Given the description of an element on the screen output the (x, y) to click on. 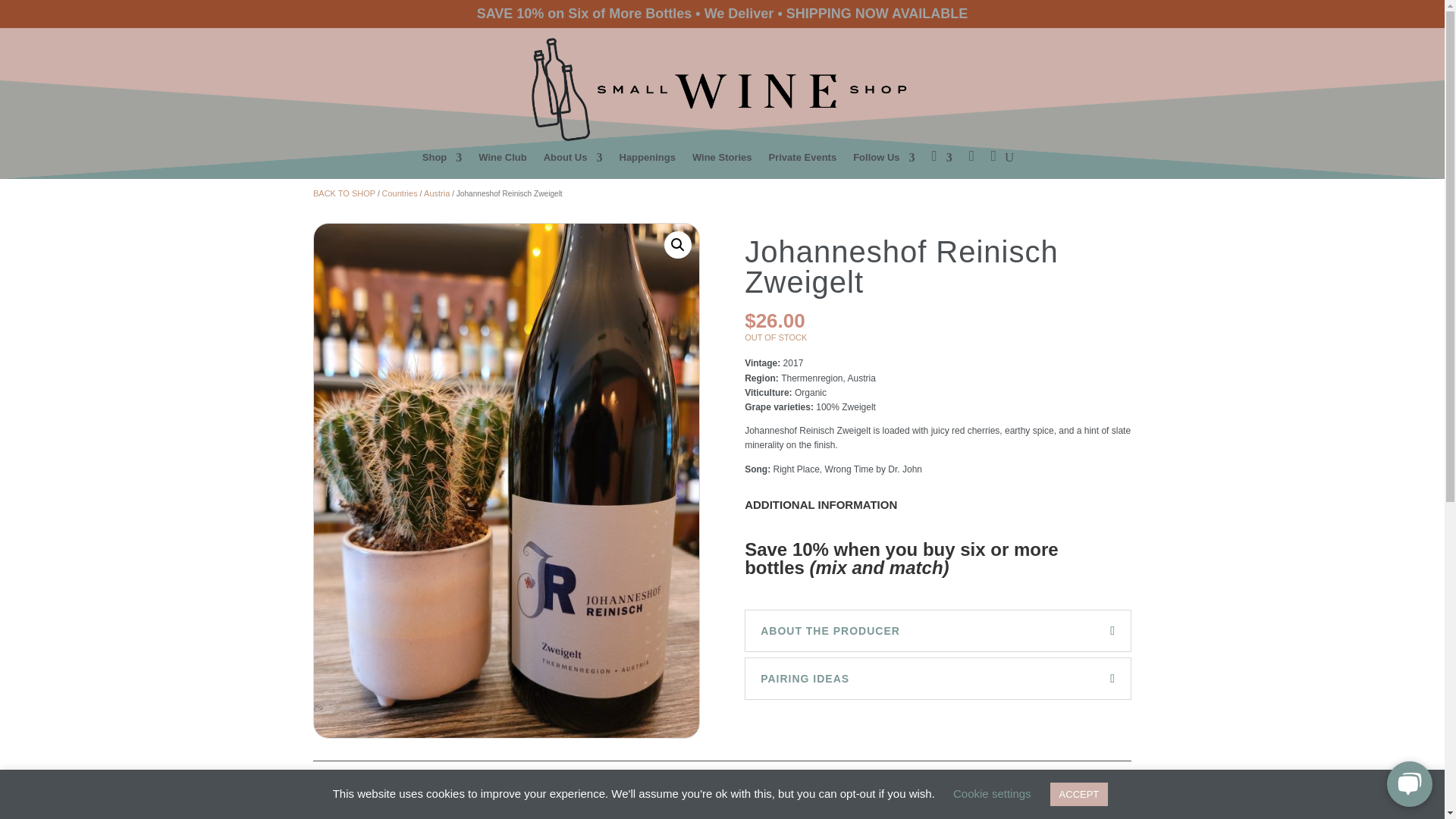
Happenings (646, 160)
Private Events (802, 160)
Shop (442, 160)
Wine Stories (722, 160)
About Us (572, 160)
Login To Your Small Wine Shop Account (941, 160)
Wine Club (502, 160)
Follow Us (883, 160)
Small Wine Shop Logo Long (721, 88)
